Given the description of an element on the screen output the (x, y) to click on. 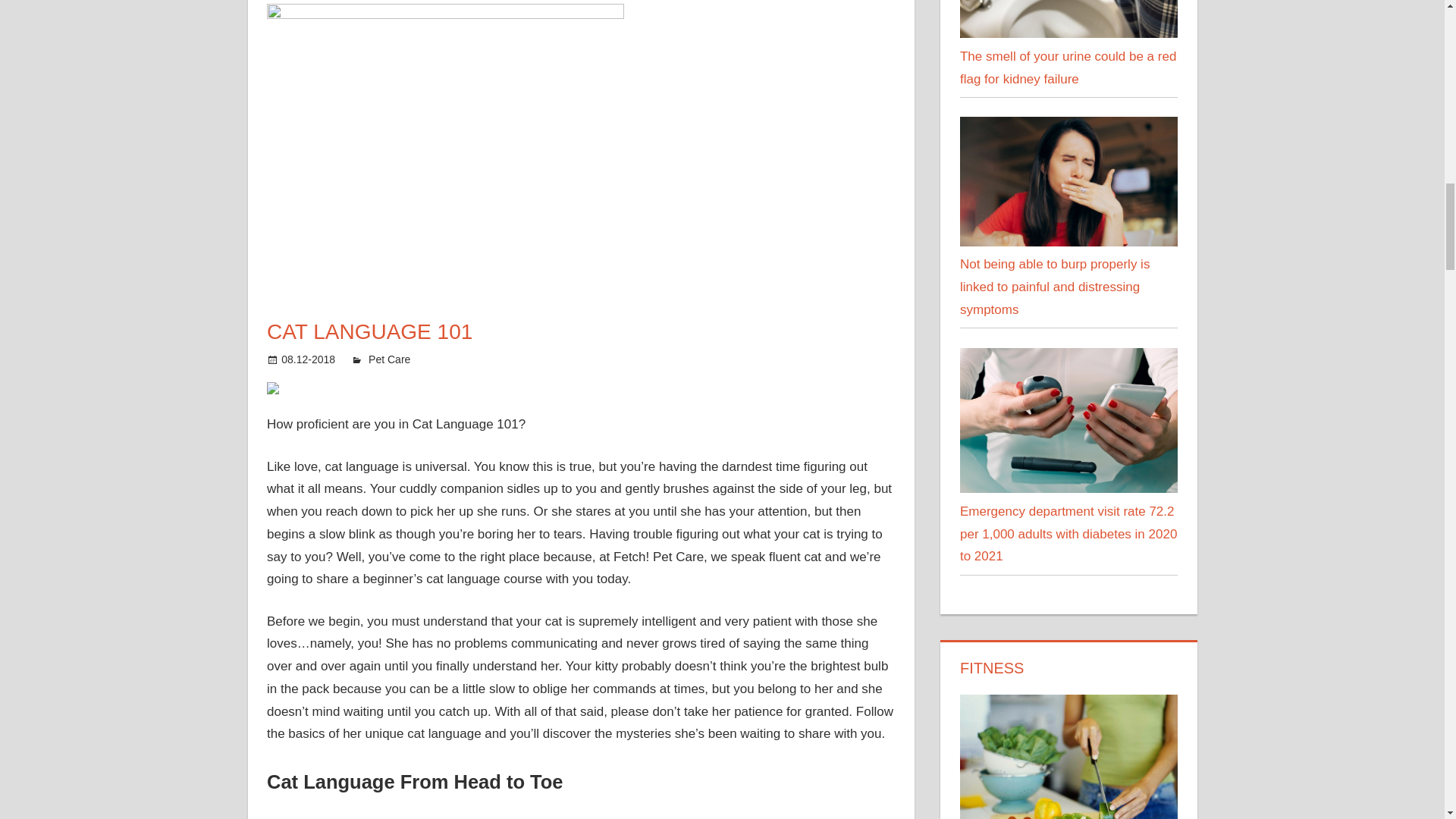
08.12-2018 (307, 358)
Pet Care (389, 358)
09:07 (307, 358)
